Given the description of an element on the screen output the (x, y) to click on. 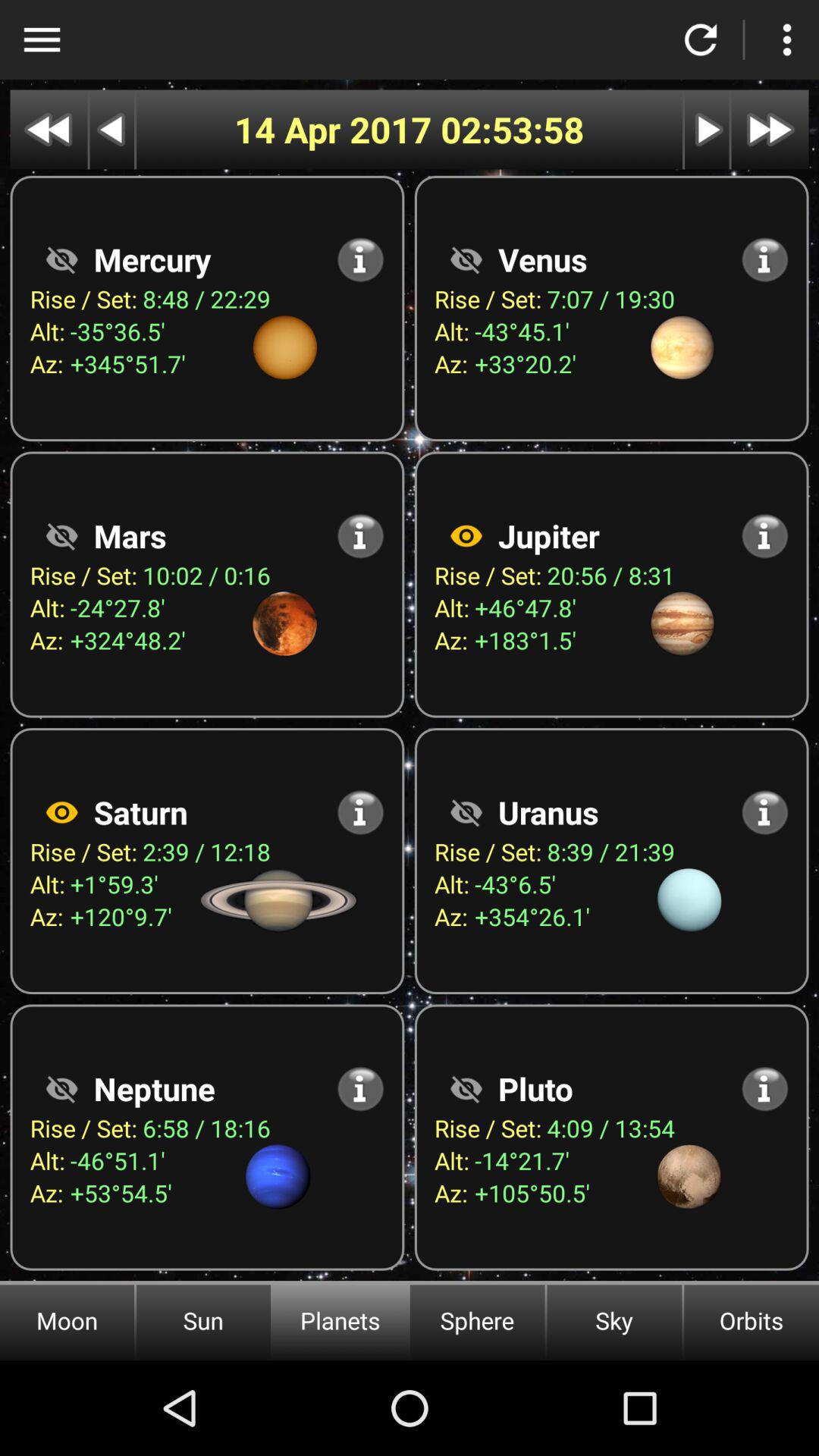
select for info on saturn (360, 812)
